Given the description of an element on the screen output the (x, y) to click on. 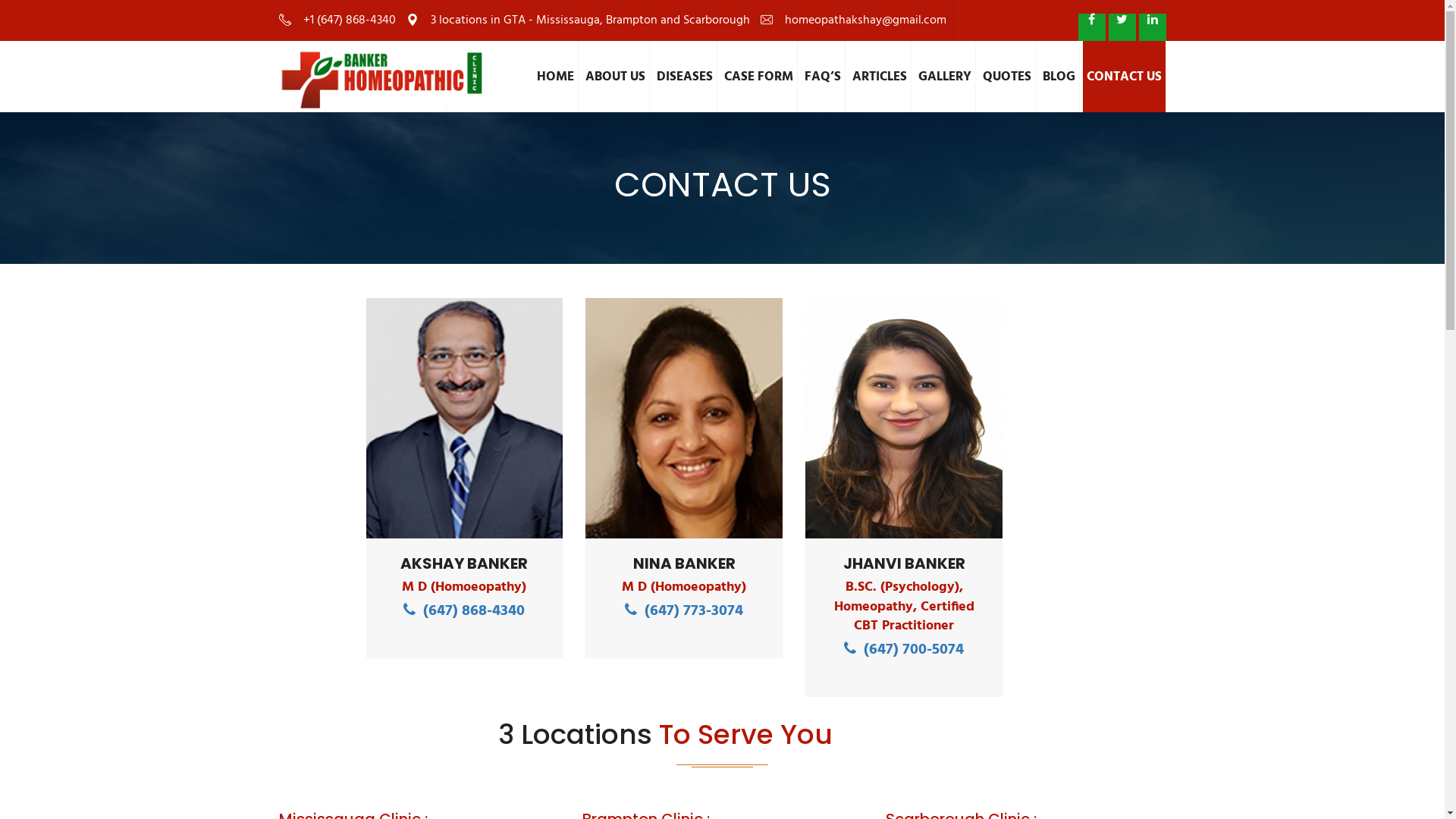
AKSHAY BANKER Element type: text (463, 561)
HOME Element type: text (554, 76)
CASE FORM Element type: text (758, 76)
BLOG Element type: text (1058, 76)
+1 (647) 868-4340 Element type: text (337, 19)
DISEASES Element type: text (684, 76)
QUOTES Element type: text (1006, 76)
ABOUT US Element type: text (614, 76)
GALLERY Element type: text (944, 76)
ARTICLES Element type: text (878, 76)
 (647) 773-3074 Element type: text (683, 609)
JHANVI BANKER Element type: text (904, 561)
NINA BANKER Element type: text (684, 561)
homeopathakshay@gmail.com Element type: text (852, 19)
 (647) 700-5074 Element type: text (903, 647)
 (647) 868-4340 Element type: text (463, 609)
CONTACT US Element type: text (1124, 76)
